Given the description of an element on the screen output the (x, y) to click on. 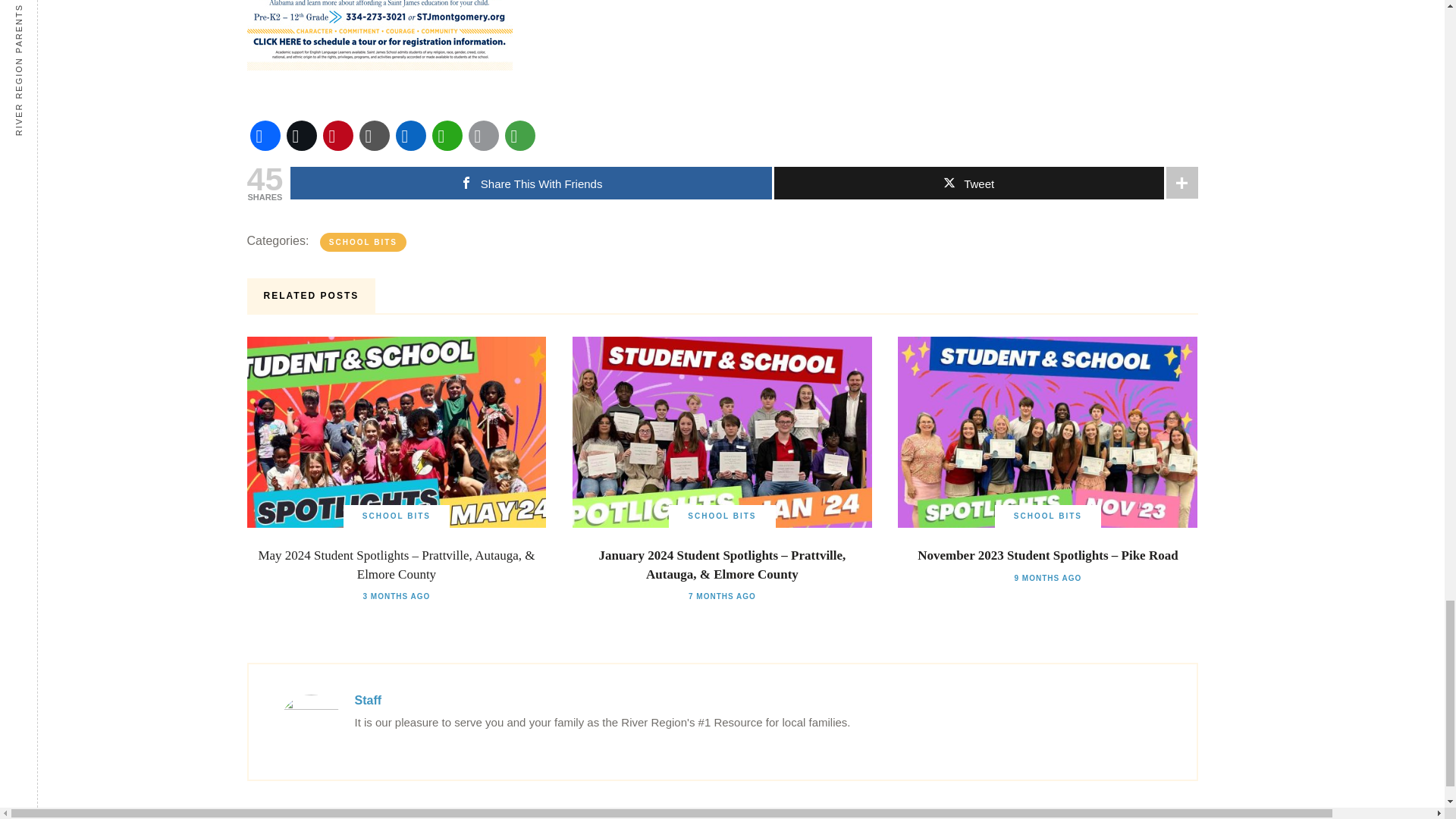
Copy Link (374, 135)
Facebook (265, 135)
WhatsApp (447, 135)
Email This (483, 135)
LinkedIn (411, 135)
More Options (520, 135)
Pinterest (338, 135)
